Given the description of an element on the screen output the (x, y) to click on. 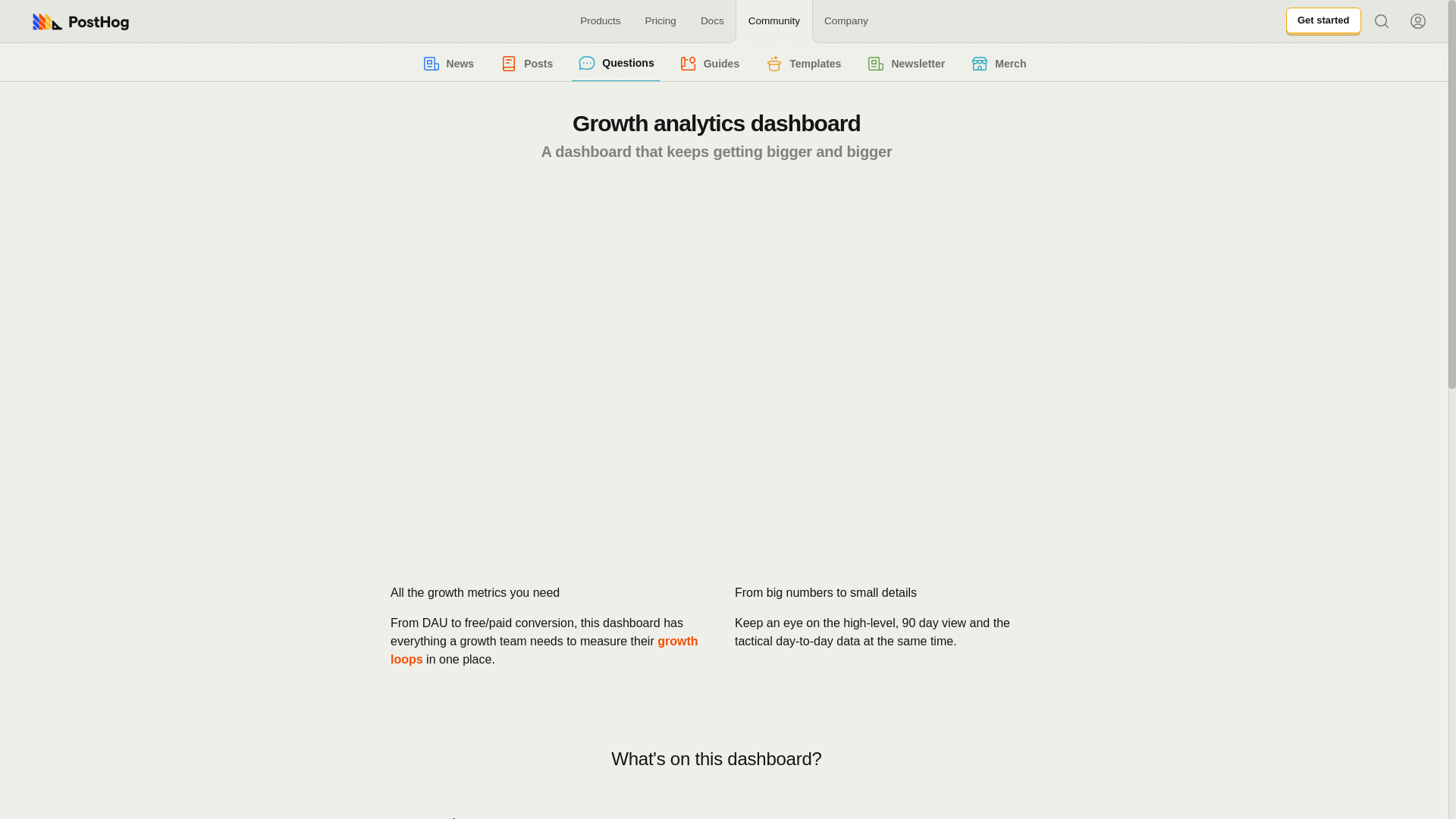
Community (774, 21)
Get started (1322, 22)
Guides (708, 63)
Newsletter (906, 63)
Posts (526, 63)
Merch (997, 63)
growth loops (544, 649)
Products (599, 21)
Templates (802, 63)
Company (846, 21)
